Given the description of an element on the screen output the (x, y) to click on. 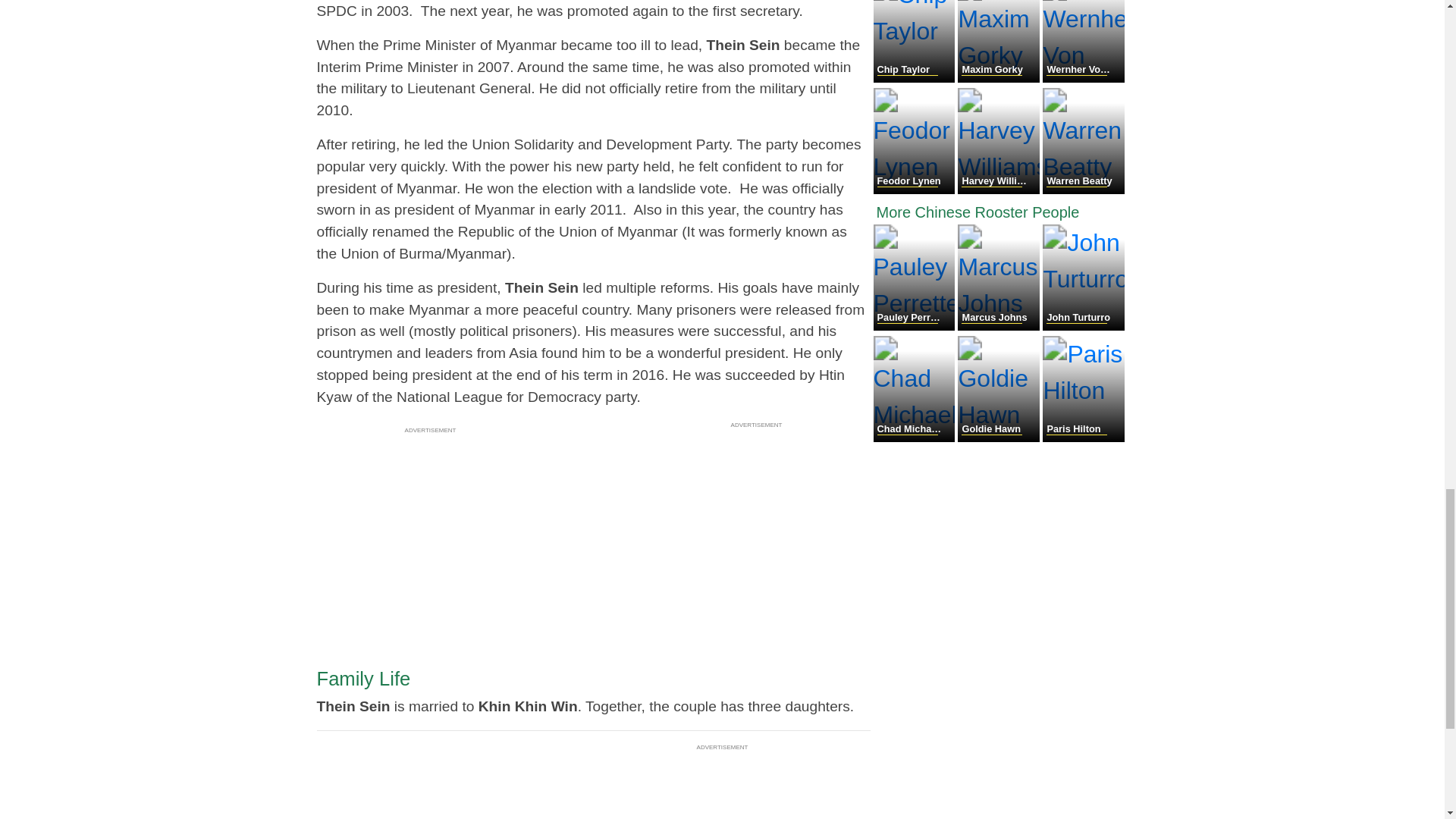
Wernher Von Braun (1083, 78)
Pauley Perrette (915, 326)
Chip Taylor (915, 78)
Maxim Gorky (1000, 78)
Feodor Lynen (915, 189)
Harvey Williams Cushing (1000, 189)
Warren Beatty (1083, 189)
